Given the description of an element on the screen output the (x, y) to click on. 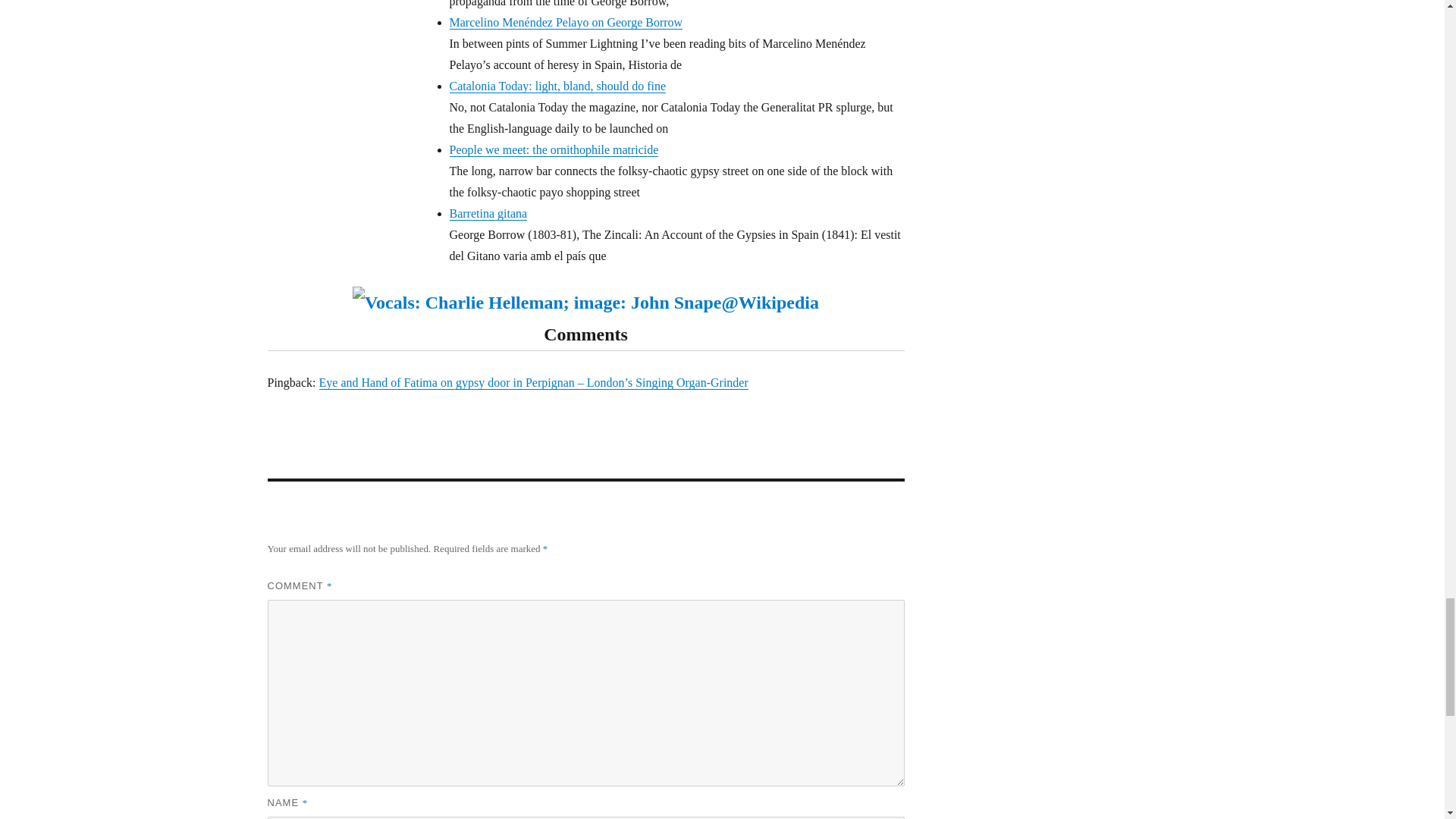
Catalonia Today: light, bland, should do fine (556, 85)
People we meet: the ornithophile matricide (553, 149)
Barretina gitana (487, 213)
